Given the description of an element on the screen output the (x, y) to click on. 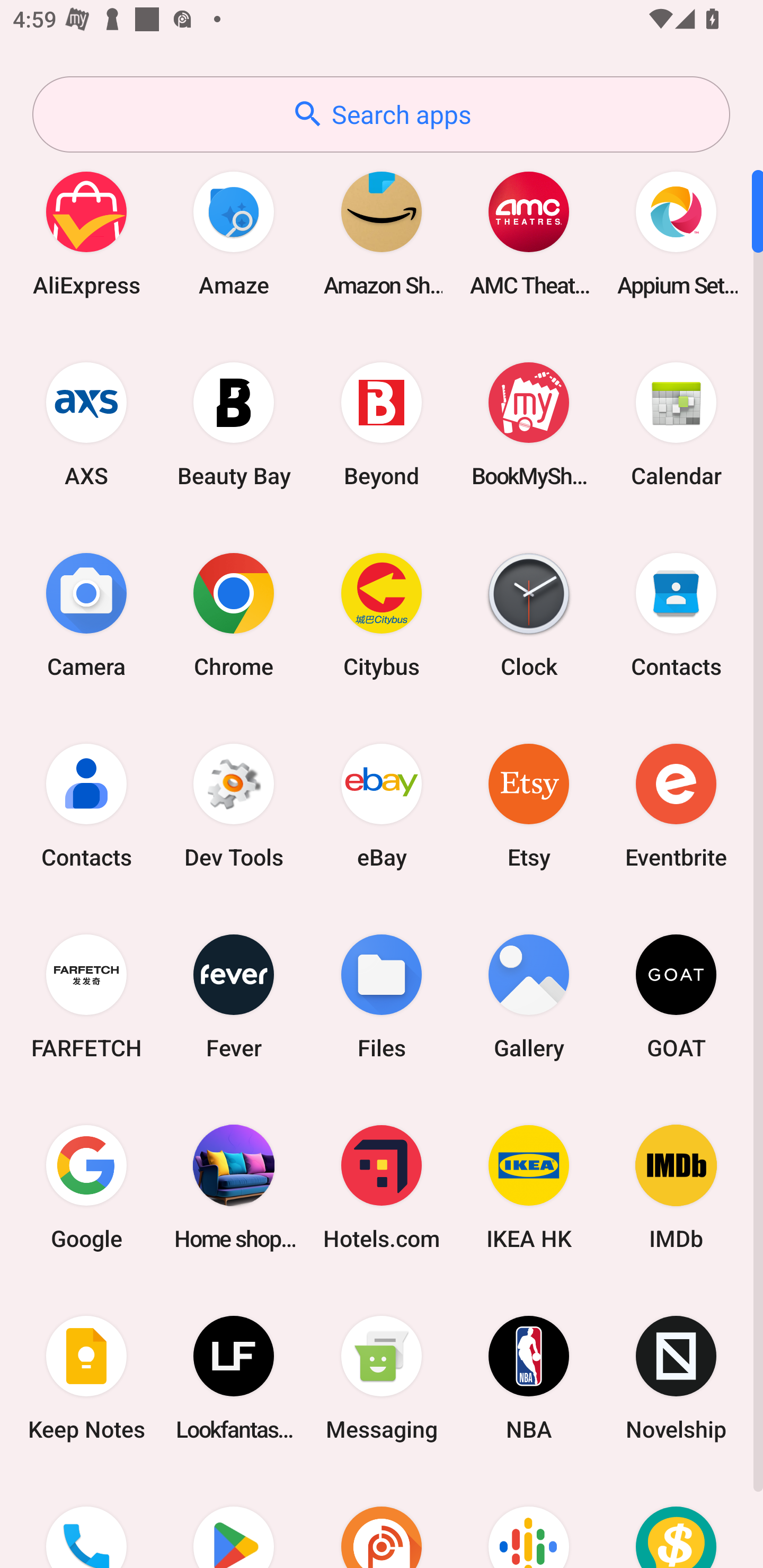
  Search apps (381, 114)
AliExpress (86, 233)
Amaze (233, 233)
Amazon Shopping (381, 233)
AMC Theatres (528, 233)
Appium Settings (676, 233)
AXS (86, 424)
Beauty Bay (233, 424)
Beyond (381, 424)
BookMyShow (528, 424)
Calendar (676, 424)
Camera (86, 614)
Chrome (233, 614)
Citybus (381, 614)
Clock (528, 614)
Contacts (676, 614)
Contacts (86, 805)
Dev Tools (233, 805)
eBay (381, 805)
Etsy (528, 805)
Eventbrite (676, 805)
FARFETCH (86, 996)
Fever (233, 996)
Files (381, 996)
Gallery (528, 996)
GOAT (676, 996)
Google (86, 1186)
Home shopping (233, 1186)
Hotels.com (381, 1186)
IKEA HK (528, 1186)
IMDb (676, 1186)
Keep Notes (86, 1377)
Lookfantastic (233, 1377)
Messaging (381, 1377)
NBA (528, 1377)
Novelship (676, 1377)
Phone (86, 1520)
Play Store (233, 1520)
Podcast Addict (381, 1520)
Podcasts (528, 1520)
Price (676, 1520)
